Given the description of an element on the screen output the (x, y) to click on. 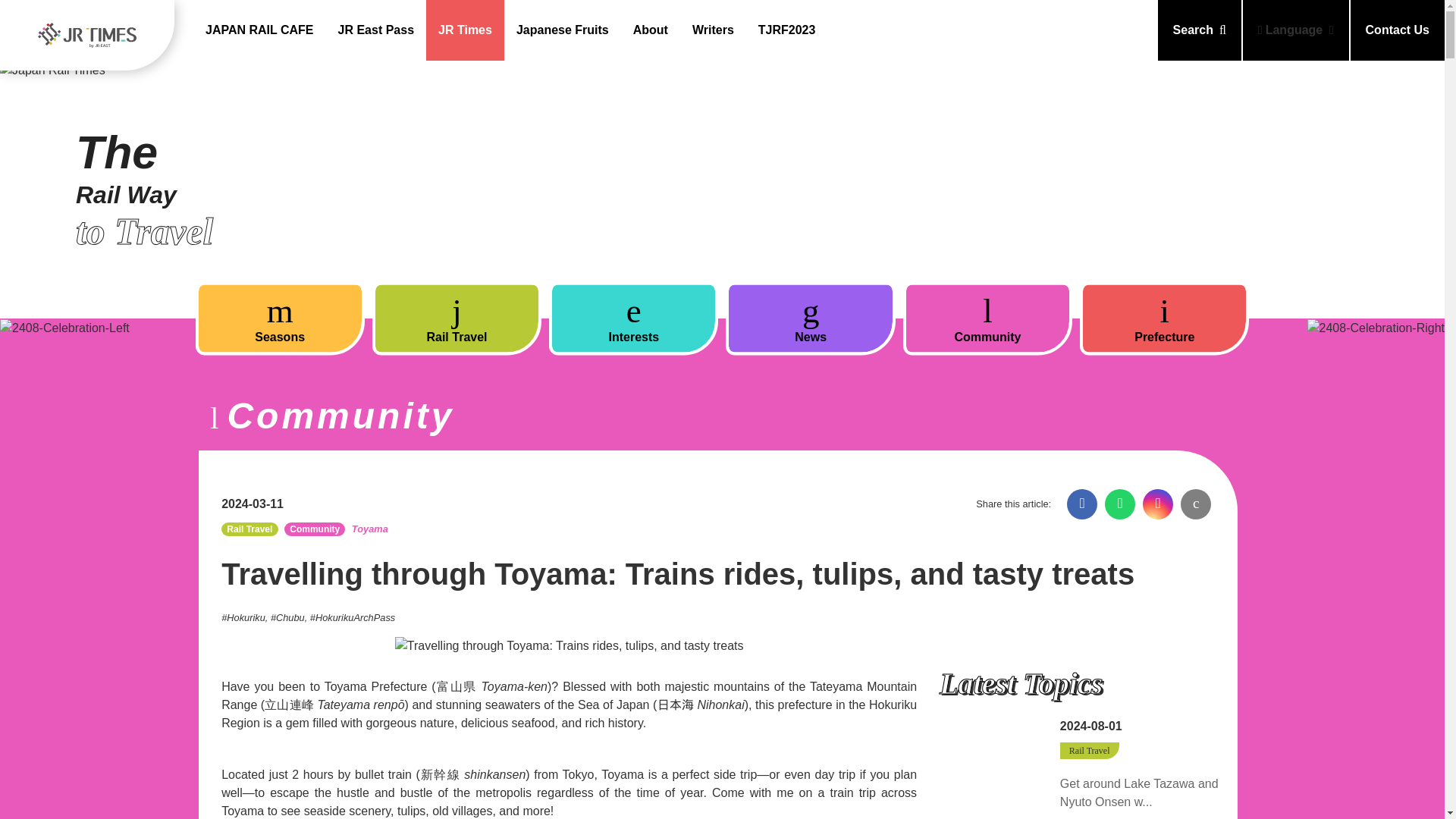
Seasons (280, 318)
Rail Travel (456, 318)
Rail Travel (456, 318)
Search (1199, 30)
News (810, 318)
Interests (632, 318)
Seasons (280, 318)
JR East Pass (376, 30)
About (650, 30)
Prefecture (1164, 318)
Language (1296, 30)
Community (986, 318)
Prefecture (1164, 318)
Writers (712, 30)
TJRF2023 (786, 30)
